Given the description of an element on the screen output the (x, y) to click on. 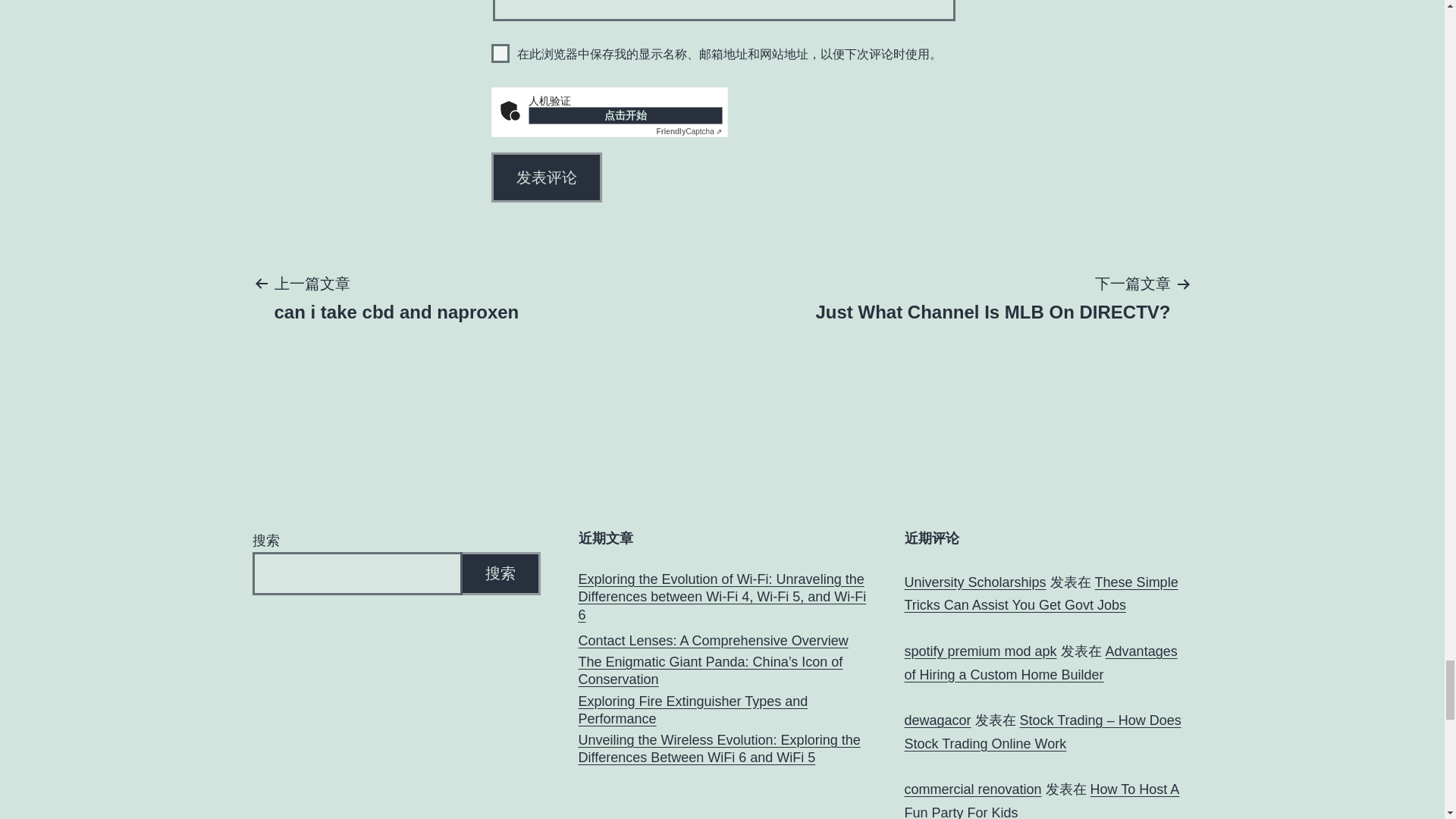
yes (500, 53)
